Given the description of an element on the screen output the (x, y) to click on. 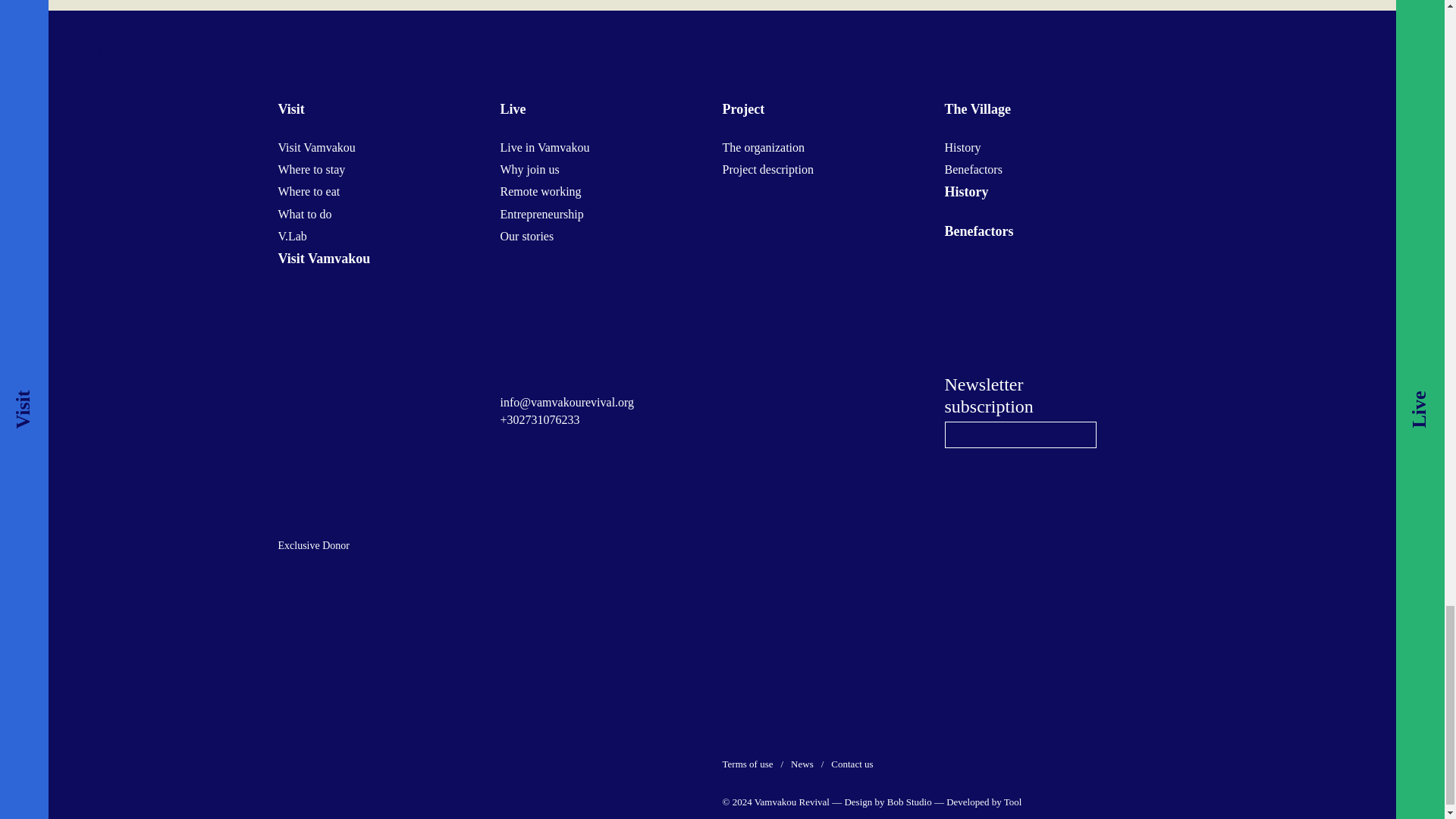
Submit (1077, 434)
Where to stay (311, 169)
Visit Vamvakou (316, 147)
What to do (304, 214)
Where to eat (308, 191)
Visit (377, 109)
